Given the description of an element on the screen output the (x, y) to click on. 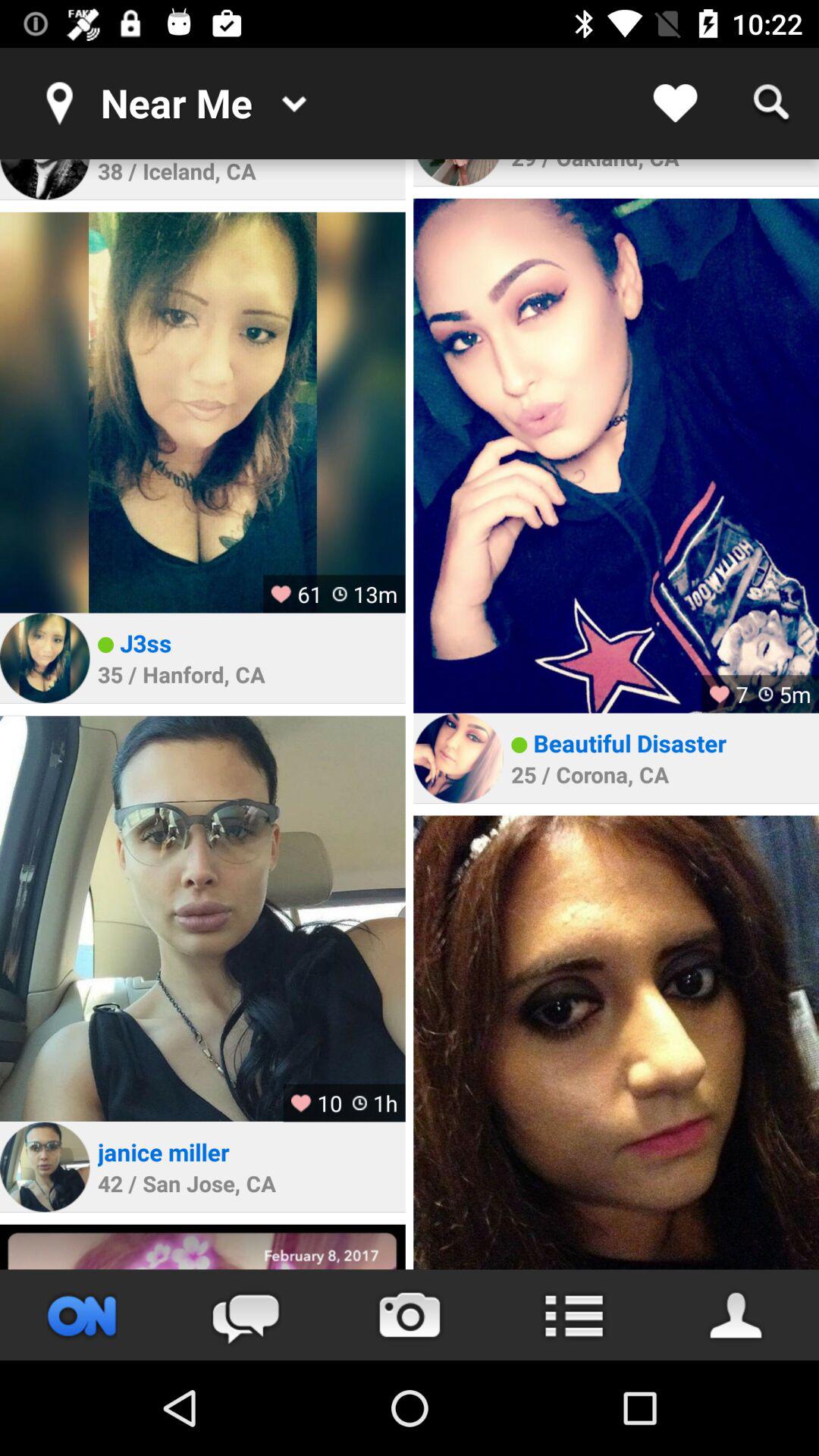
open image (44, 1167)
